Given the description of an element on the screen output the (x, y) to click on. 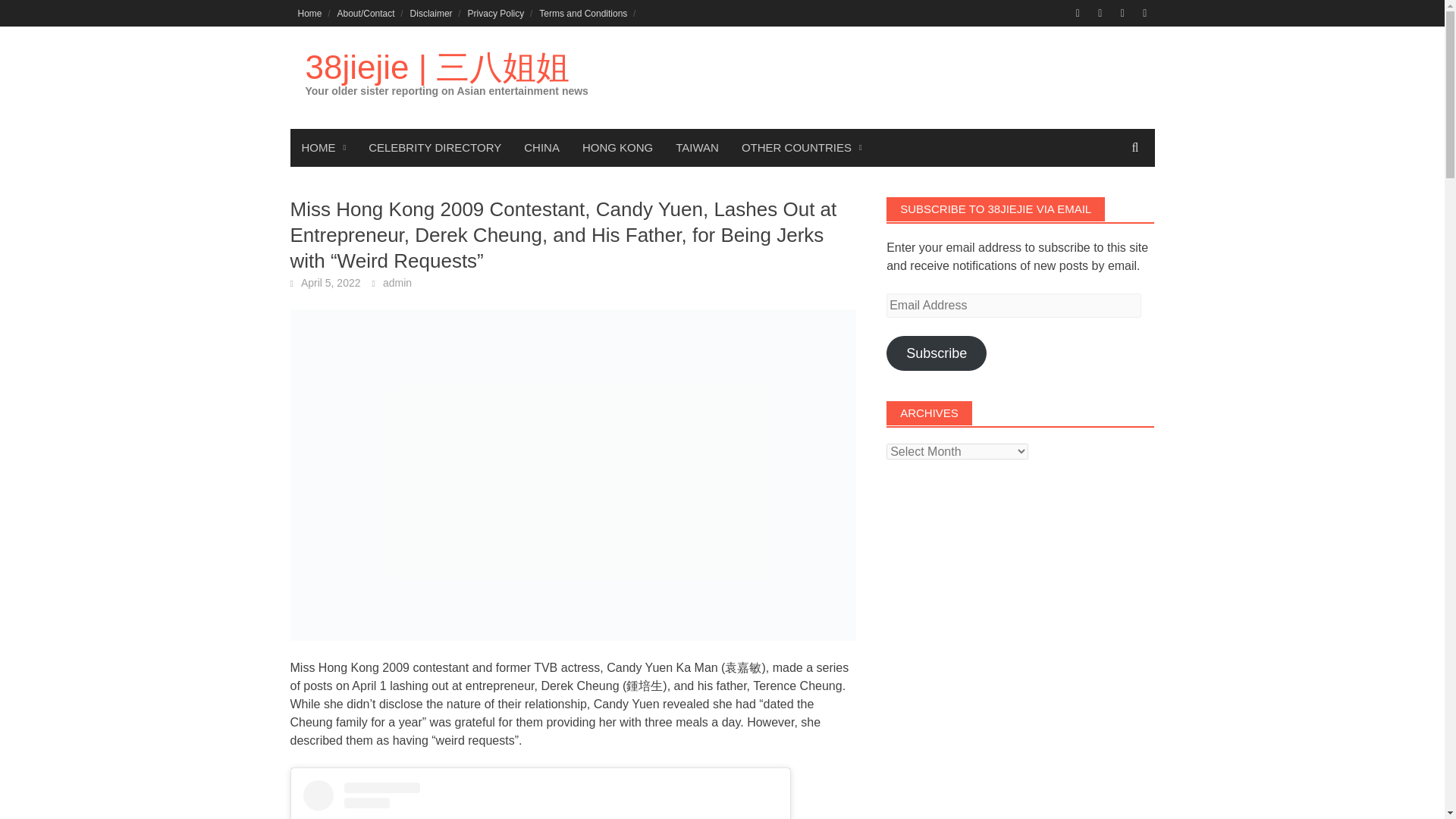
admin (397, 282)
Privacy Policy (496, 13)
April 5, 2022 (331, 282)
View this post on Instagram (539, 799)
HONG KONG (616, 147)
HOME (322, 147)
CHINA (541, 147)
Disclaimer (431, 13)
Terms and Conditions (582, 13)
TAIWAN (696, 147)
